Given the description of an element on the screen output the (x, y) to click on. 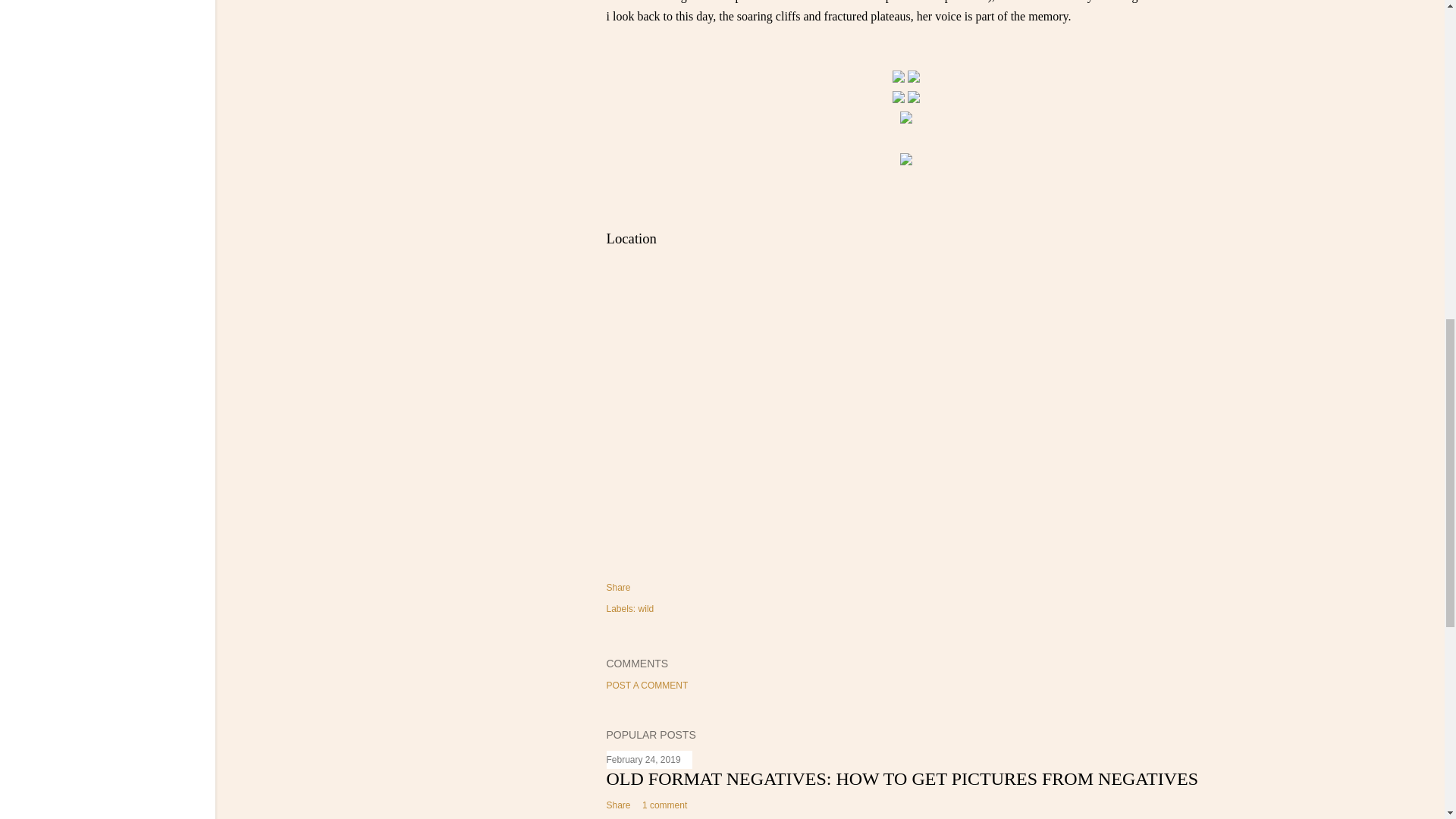
Share (618, 805)
OLD FORMAT NEGATIVES: HOW TO GET PICTURES FROM NEGATIVES (902, 778)
February 24, 2019 (644, 759)
wild (646, 608)
permanent link (644, 759)
1 comment (664, 805)
Share (618, 587)
POST A COMMENT (647, 685)
